Given the description of an element on the screen output the (x, y) to click on. 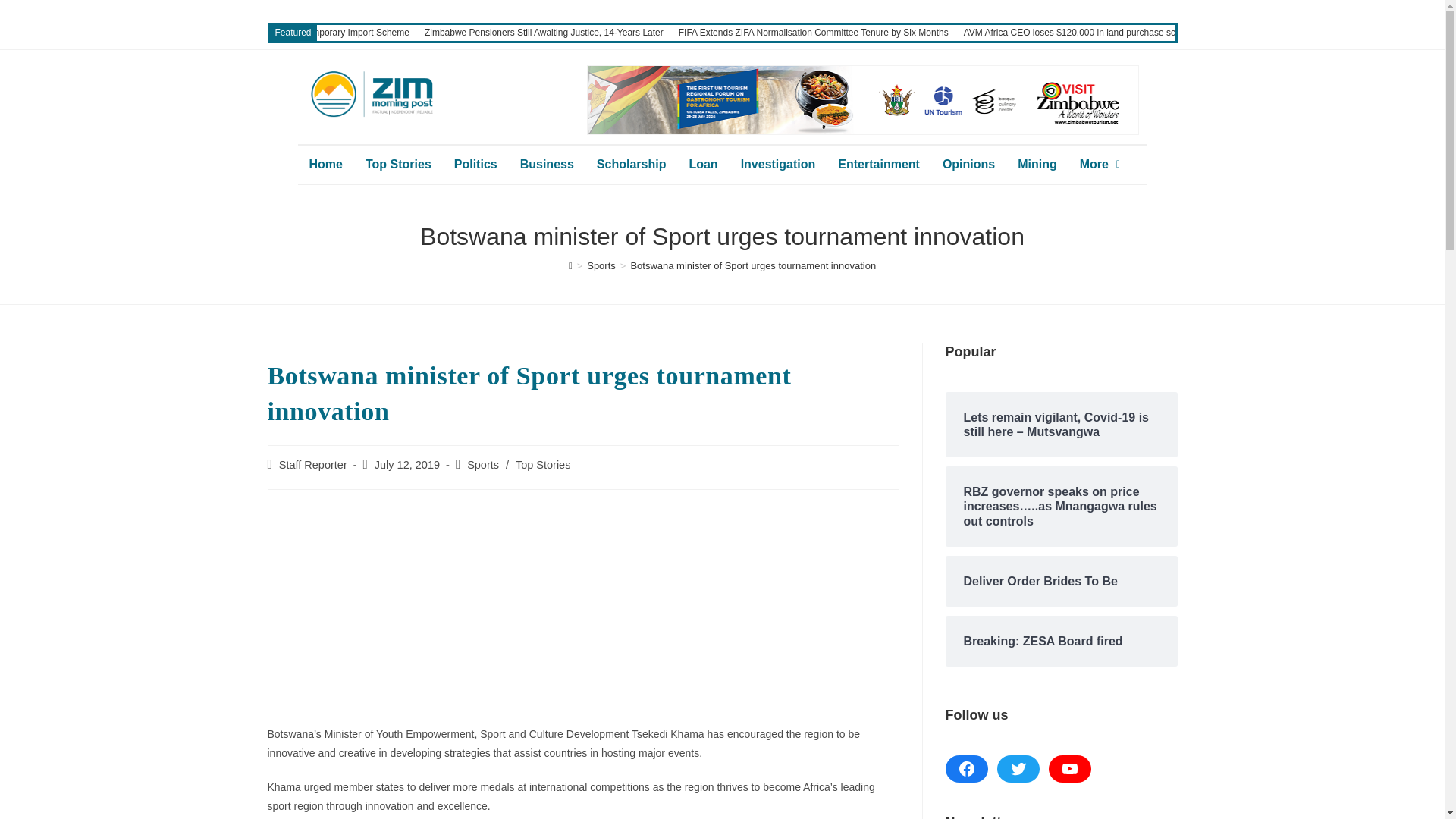
Zimbabwe Pensioners Still Awaiting Justice, 14-Years Later (544, 32)
Investigation (778, 164)
Business (546, 164)
Top Stories (397, 164)
More (1099, 164)
Advertisement (582, 611)
Posts by Staff Reporter (313, 464)
Loan (703, 164)
Entertainment (879, 164)
Home (325, 164)
Politics (475, 164)
Mining (1037, 164)
Opinions (968, 164)
Scholarship (631, 164)
